Given the description of an element on the screen output the (x, y) to click on. 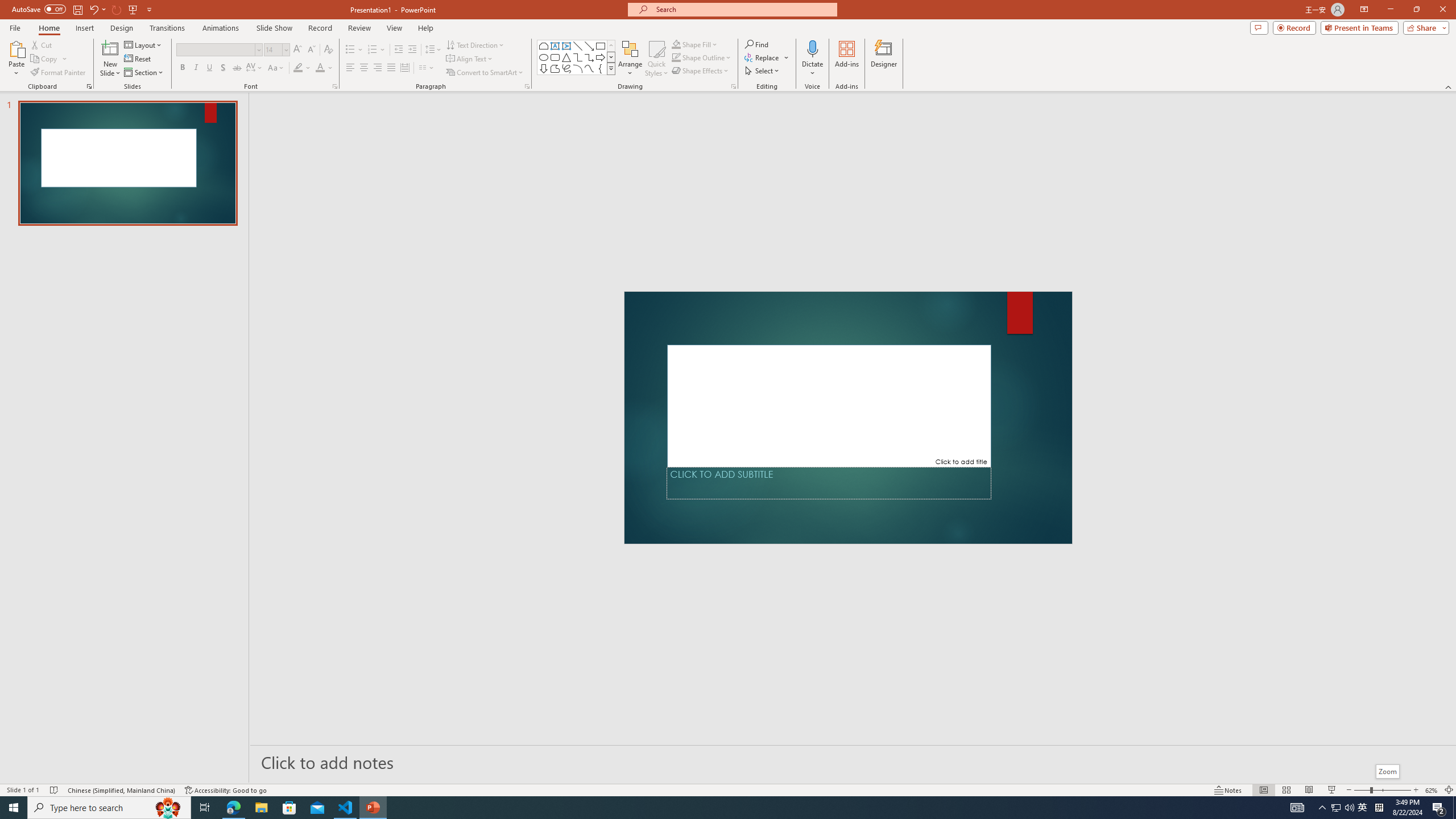
Zoom 62% (1431, 790)
